Given the description of an element on the screen output the (x, y) to click on. 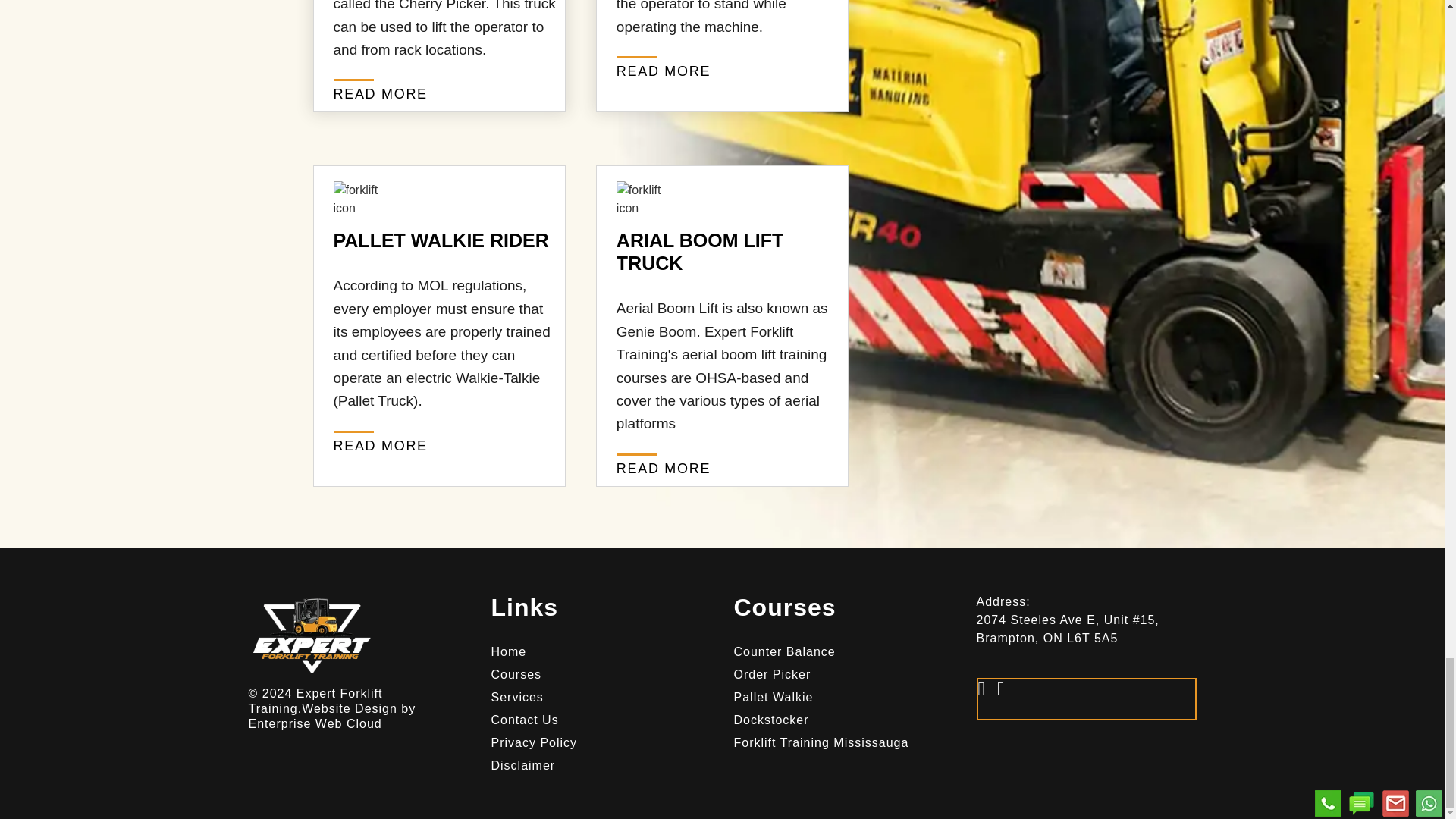
READ MORE (662, 468)
READ MORE (662, 70)
Enterprise Web Cloud (314, 723)
READ MORE (380, 93)
READ MORE (380, 445)
